Given the description of an element on the screen output the (x, y) to click on. 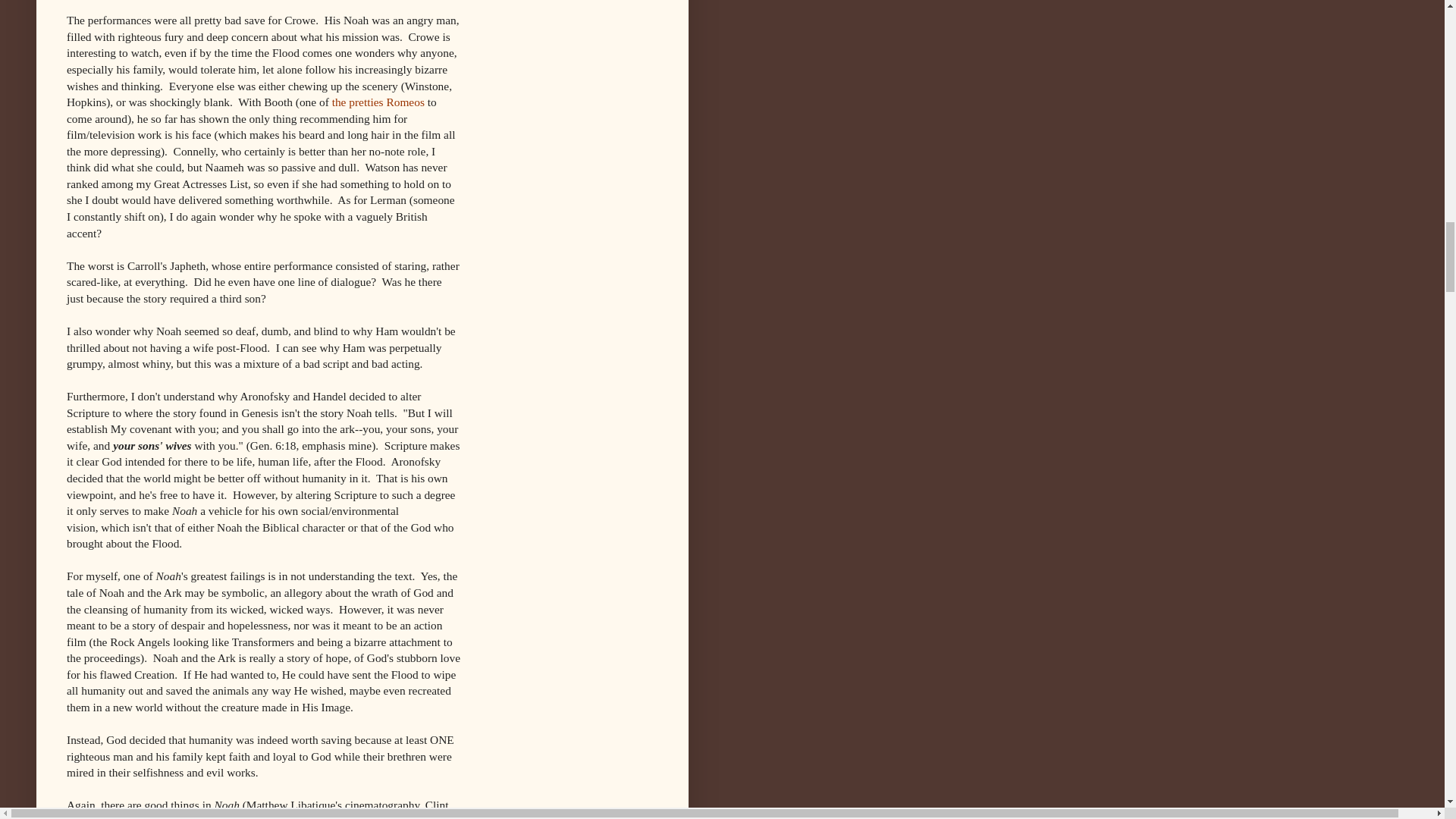
the pretties Romeos (378, 101)
